Given the description of an element on the screen output the (x, y) to click on. 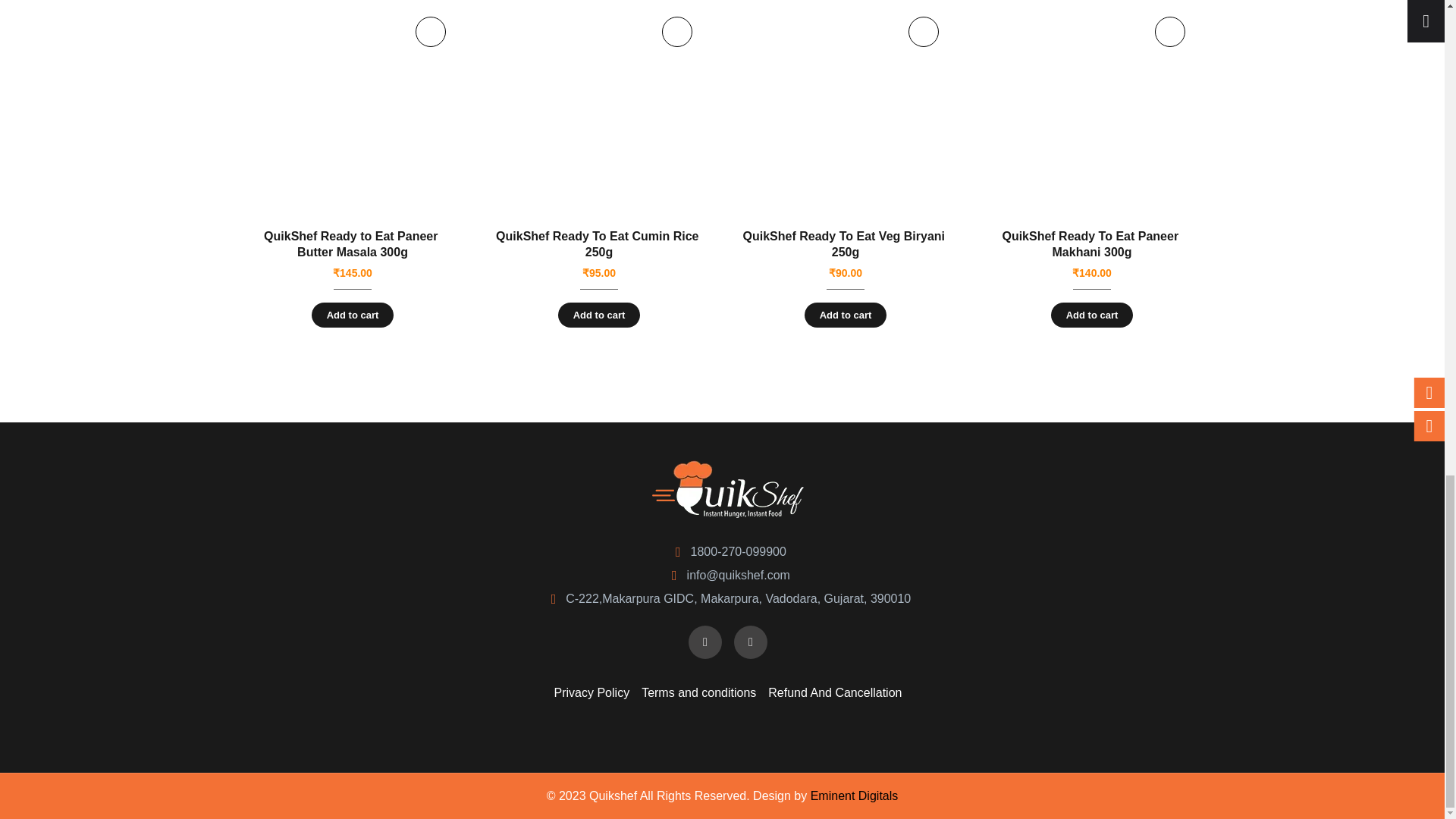
QuikShef Ready To Eat Veg Biryani 250g (845, 108)
QuikShef Ready To Eat Cumin Rice 250g (599, 108)
QuikShef Ready to Eat Paneer Butter Masala 300g (352, 108)
